Given the description of an element on the screen output the (x, y) to click on. 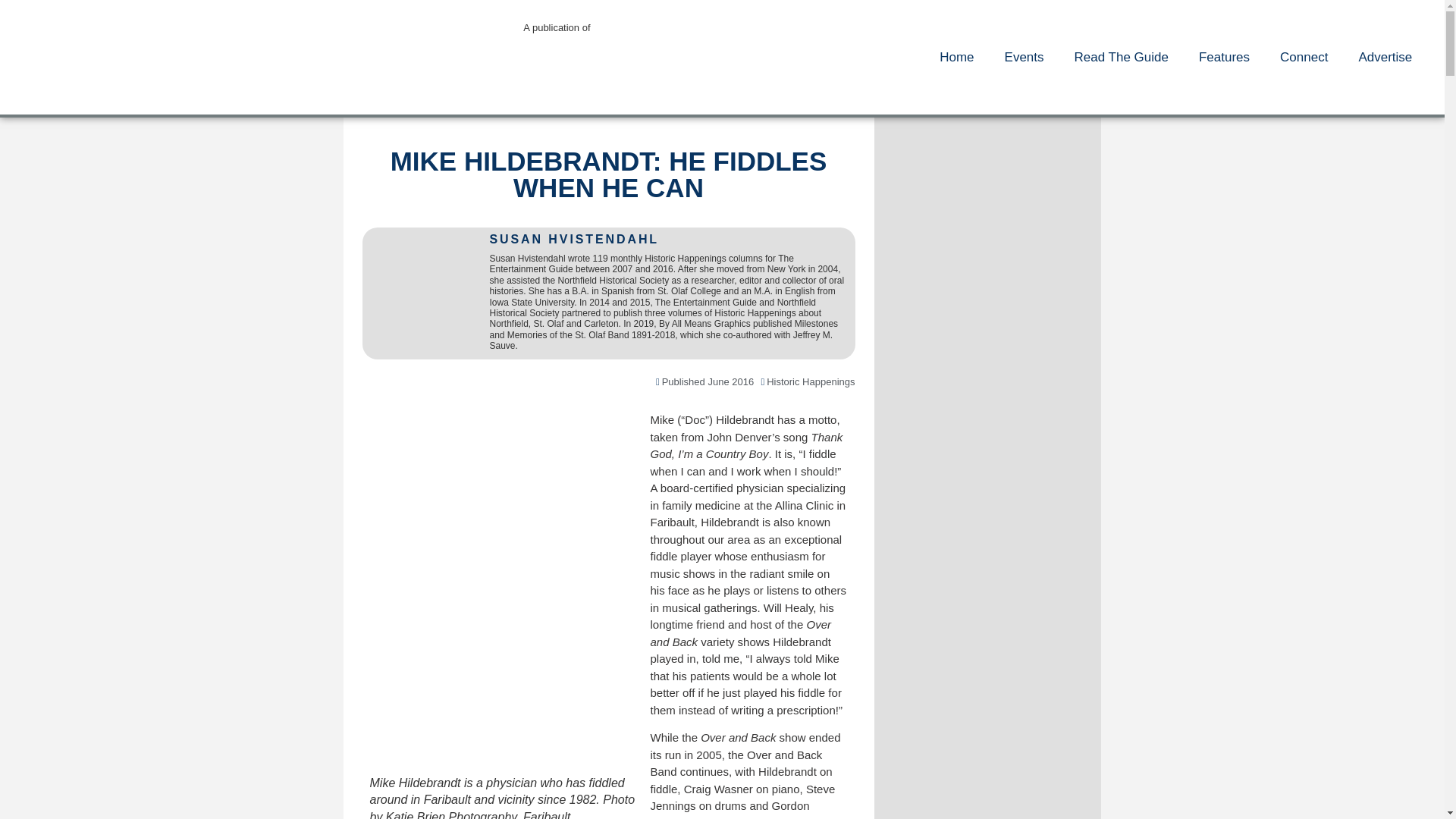
Features (1224, 56)
Home (956, 56)
Events (1024, 56)
Read The Guide (1121, 56)
Advertise (1384, 56)
Connect (1303, 56)
